Given the description of an element on the screen output the (x, y) to click on. 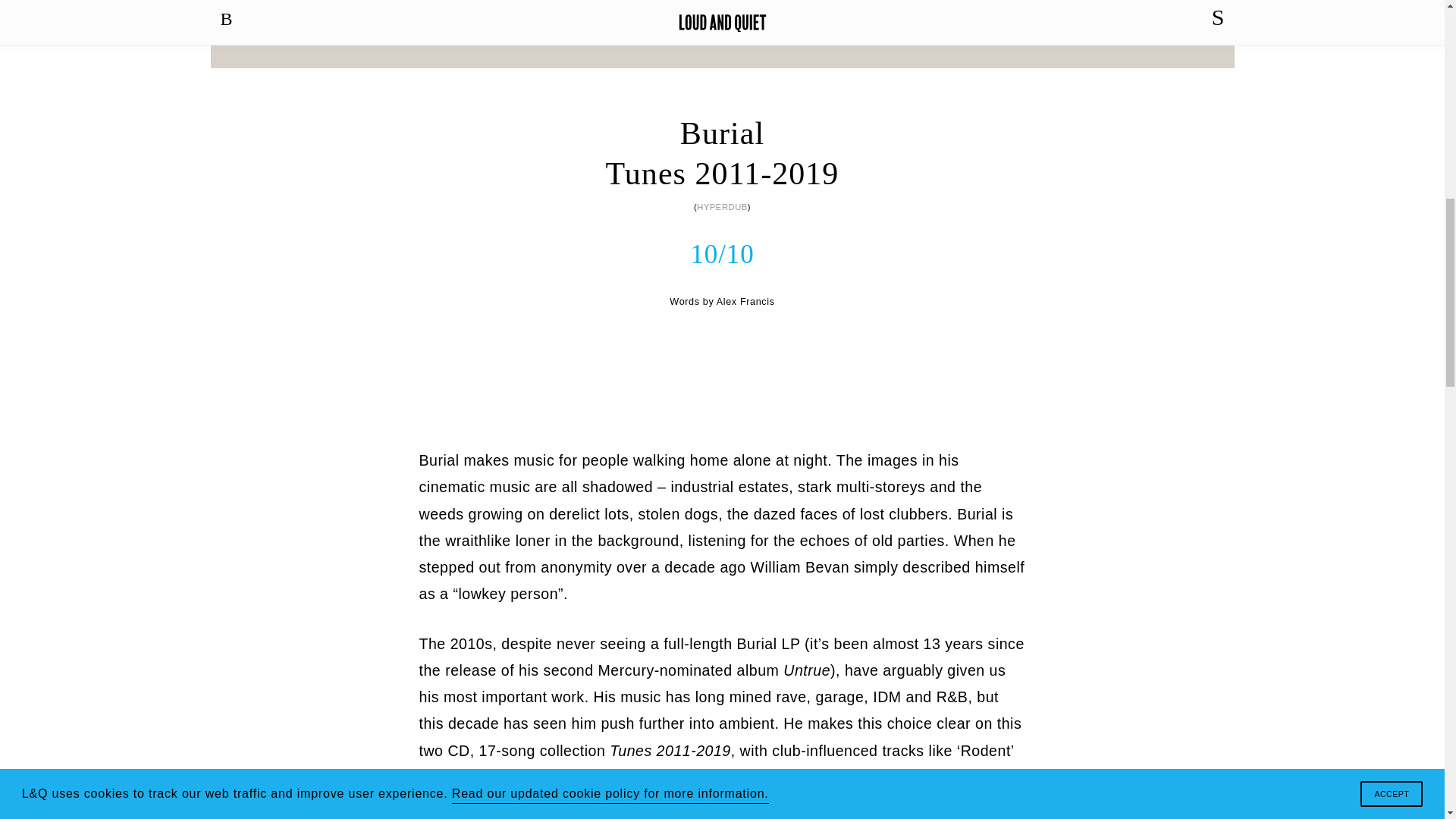
More content by Alex Francis (745, 301)
Hyperdub (722, 206)
HYPERDUB (722, 206)
Alex Francis (745, 301)
